Given the description of an element on the screen output the (x, y) to click on. 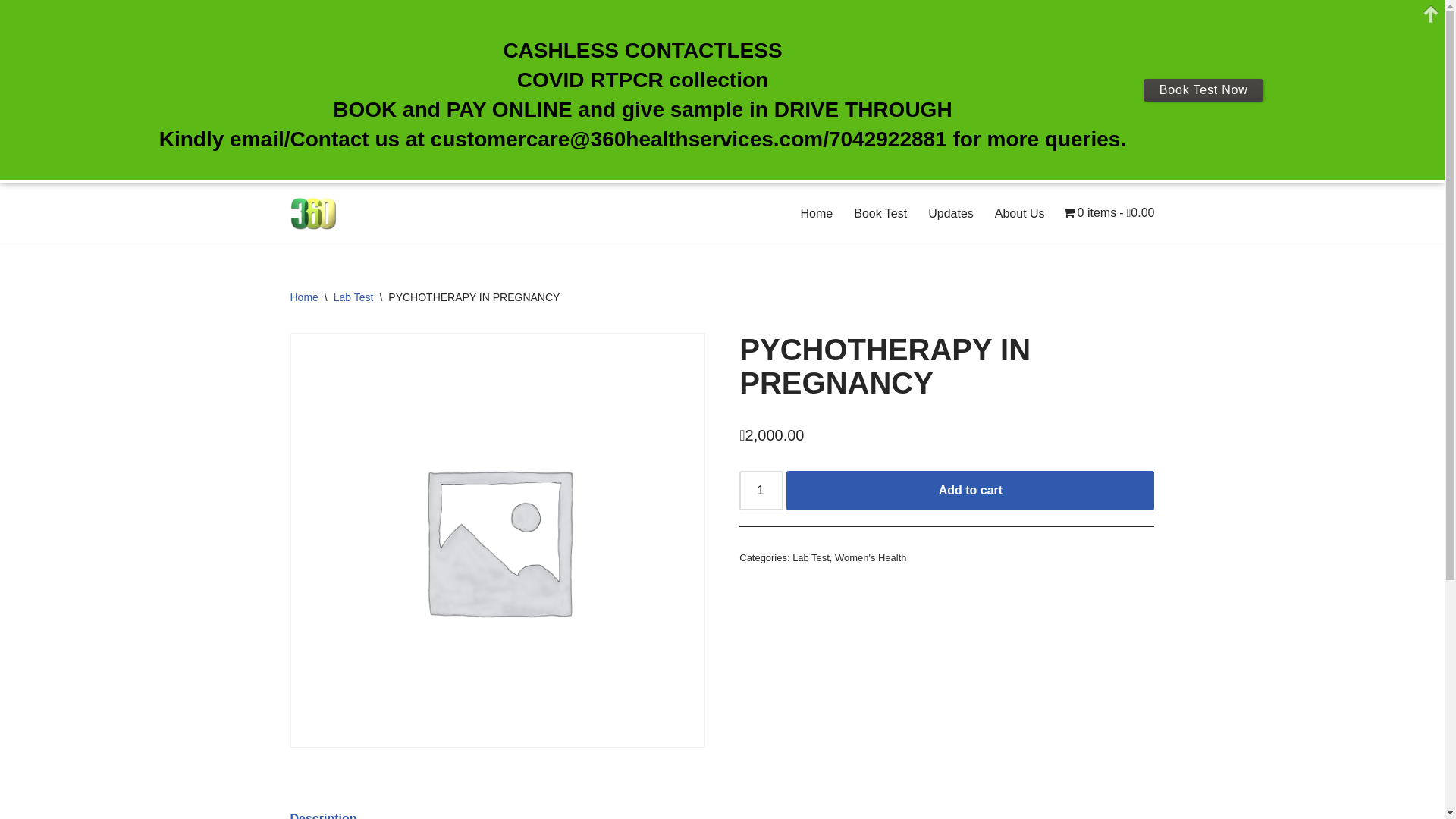
Book Test Element type: text (879, 213)
Home Element type: text (303, 297)
Updates Element type: text (950, 213)
About Us Element type: text (1019, 213)
Add to cart Element type: text (970, 490)
Home Element type: text (816, 213)
Qty Element type: hover (761, 490)
Skip to content Element type: text (11, 214)
Lab Test Element type: text (353, 297)
Women's Health Element type: text (870, 557)
Lab Test Element type: text (810, 557)
